Given the description of an element on the screen output the (x, y) to click on. 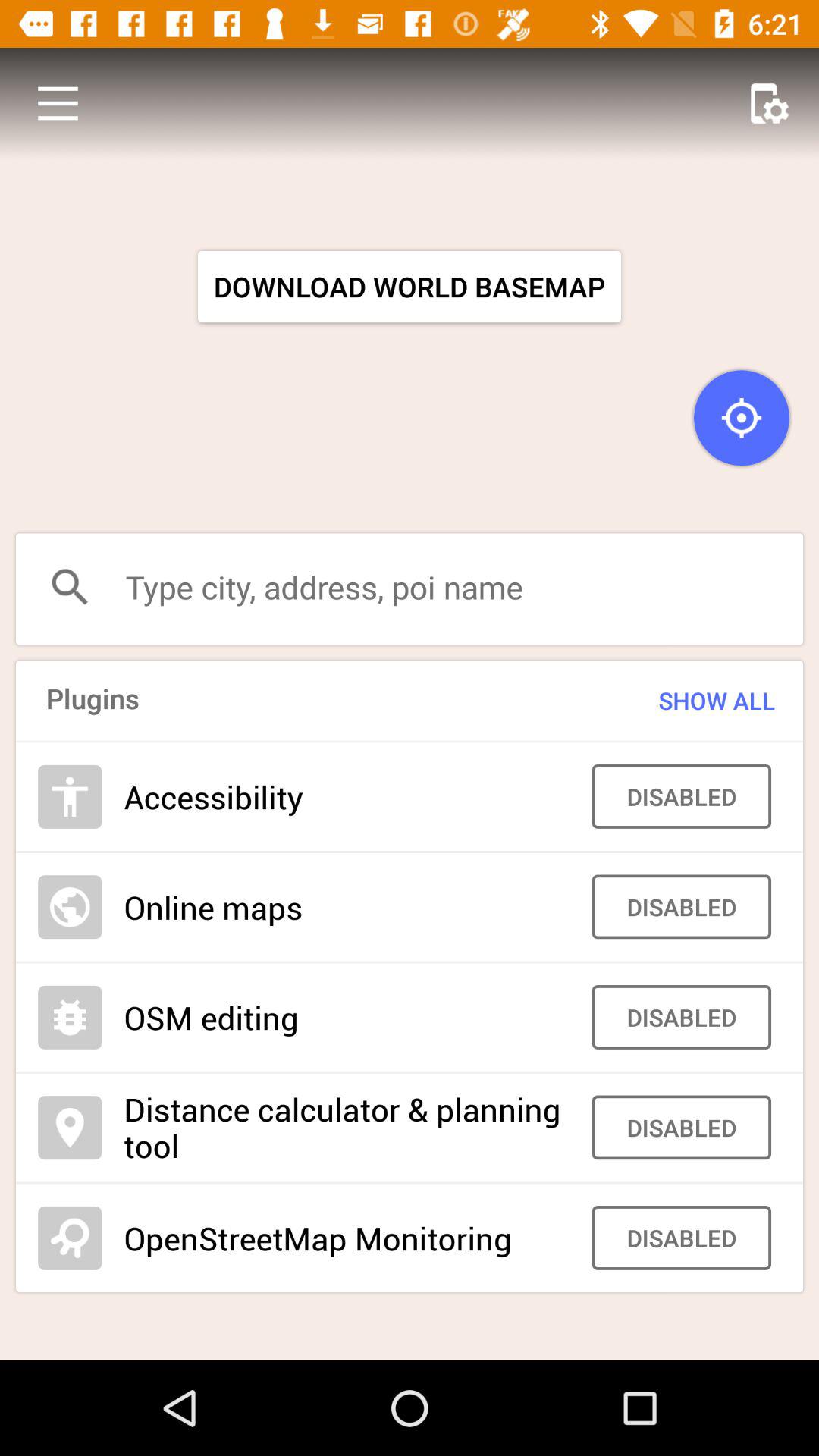
click show all icon (687, 700)
